Given the description of an element on the screen output the (x, y) to click on. 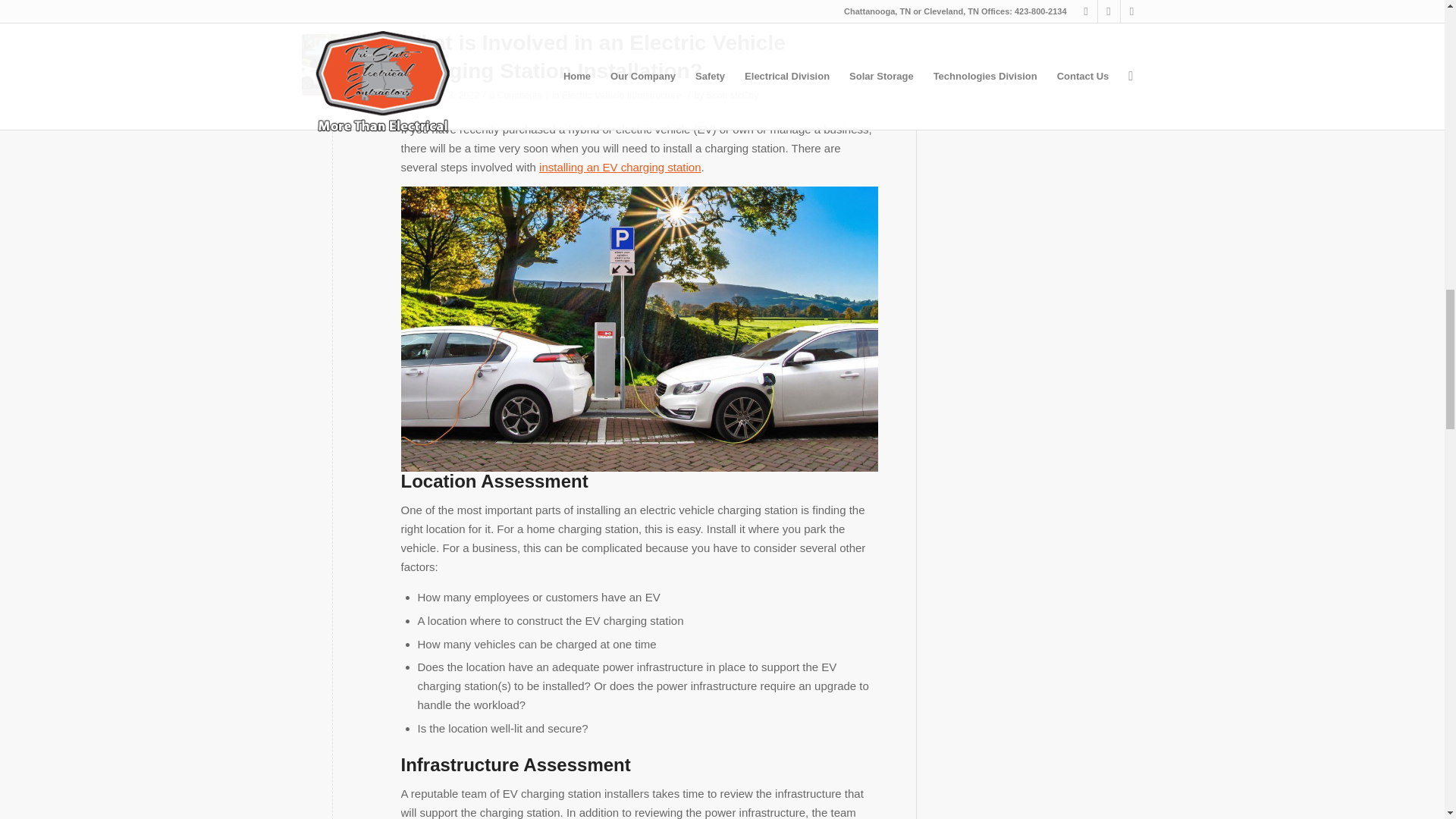
Scott McCoy (732, 95)
0 Comments (515, 95)
Electric Vehicle Infrastructure (621, 95)
Posts by Scott McCoy (732, 95)
